Given the description of an element on the screen output the (x, y) to click on. 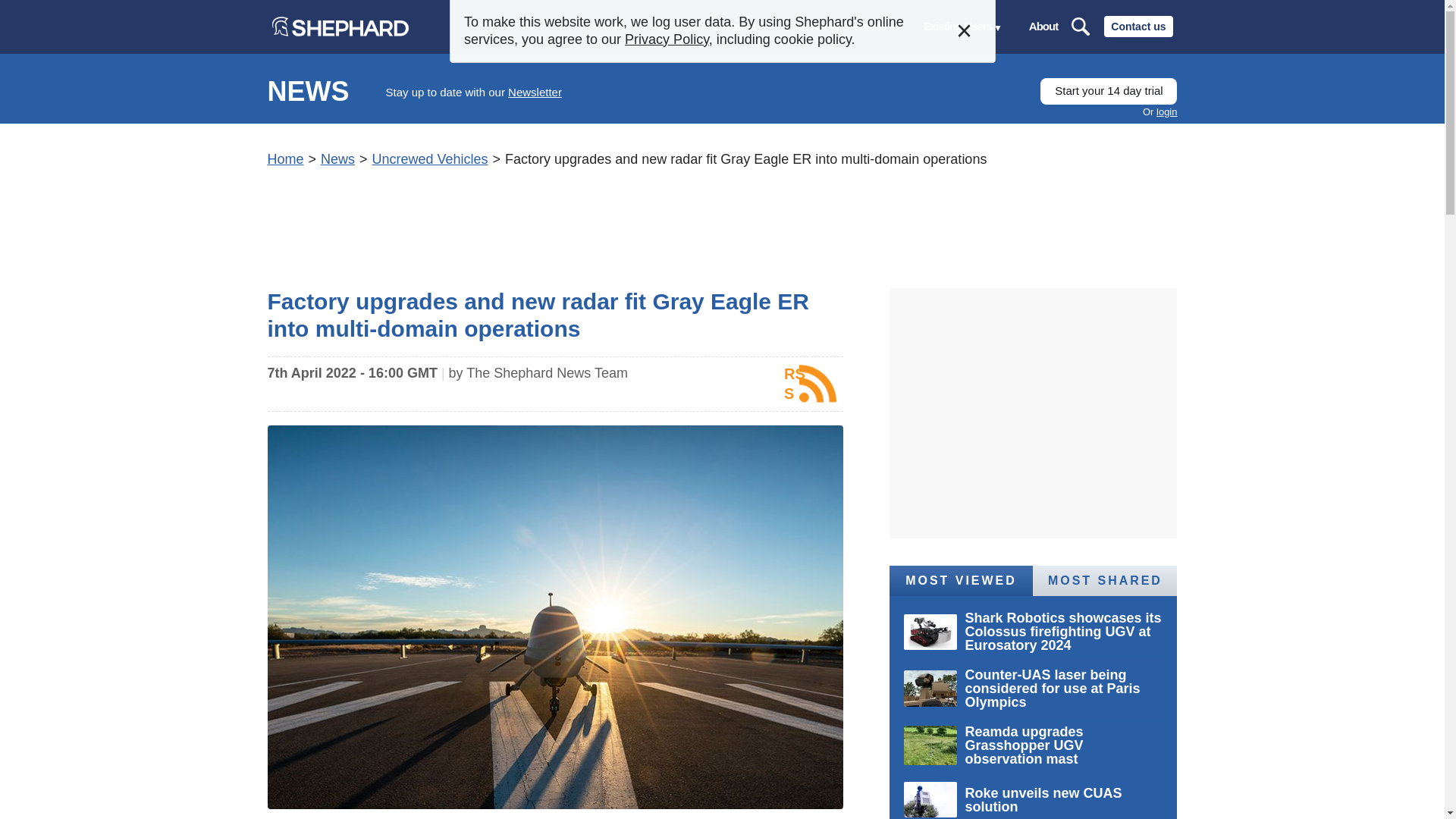
Start a trial subscription (1108, 90)
Login (1166, 111)
3rd party ad content (721, 223)
login (1166, 111)
About (1042, 27)
Uncrewed Vehicles (429, 159)
Start your 14 day trial (1108, 90)
Contact us (1137, 25)
Newsletter (535, 91)
Uncrewed Vehicles RSS Feed (809, 383)
Shephard (338, 26)
Privacy Policy (666, 38)
